Given the description of an element on the screen output the (x, y) to click on. 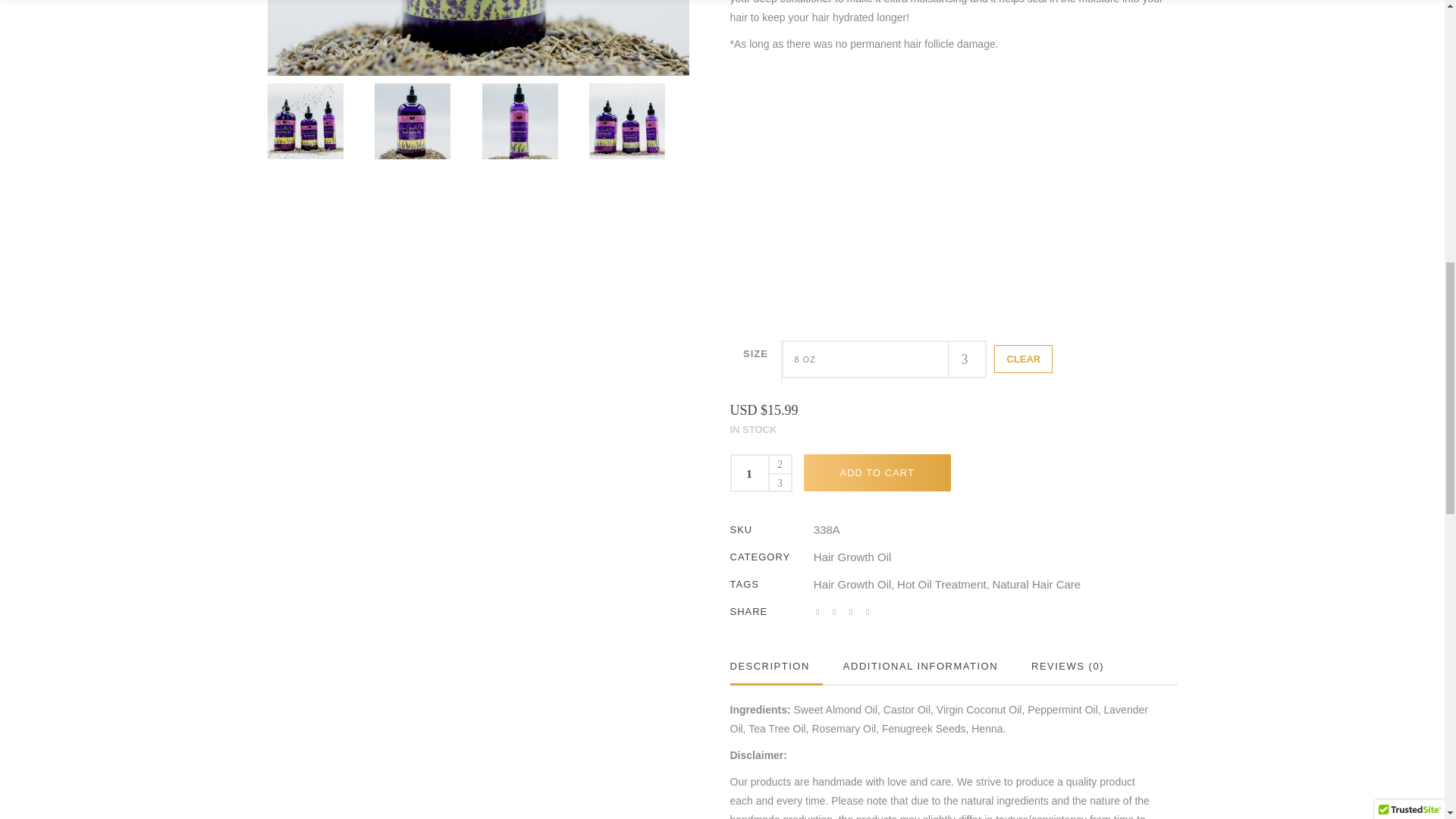
3M8A0386 (519, 120)
3M8A0383 (477, 38)
Qty (748, 473)
1 (748, 473)
3M8A0338 (627, 120)
3M8A0352 (304, 120)
3M8A0381 (411, 120)
YouTube player (952, 186)
8 oz (884, 359)
